Given the description of an element on the screen output the (x, y) to click on. 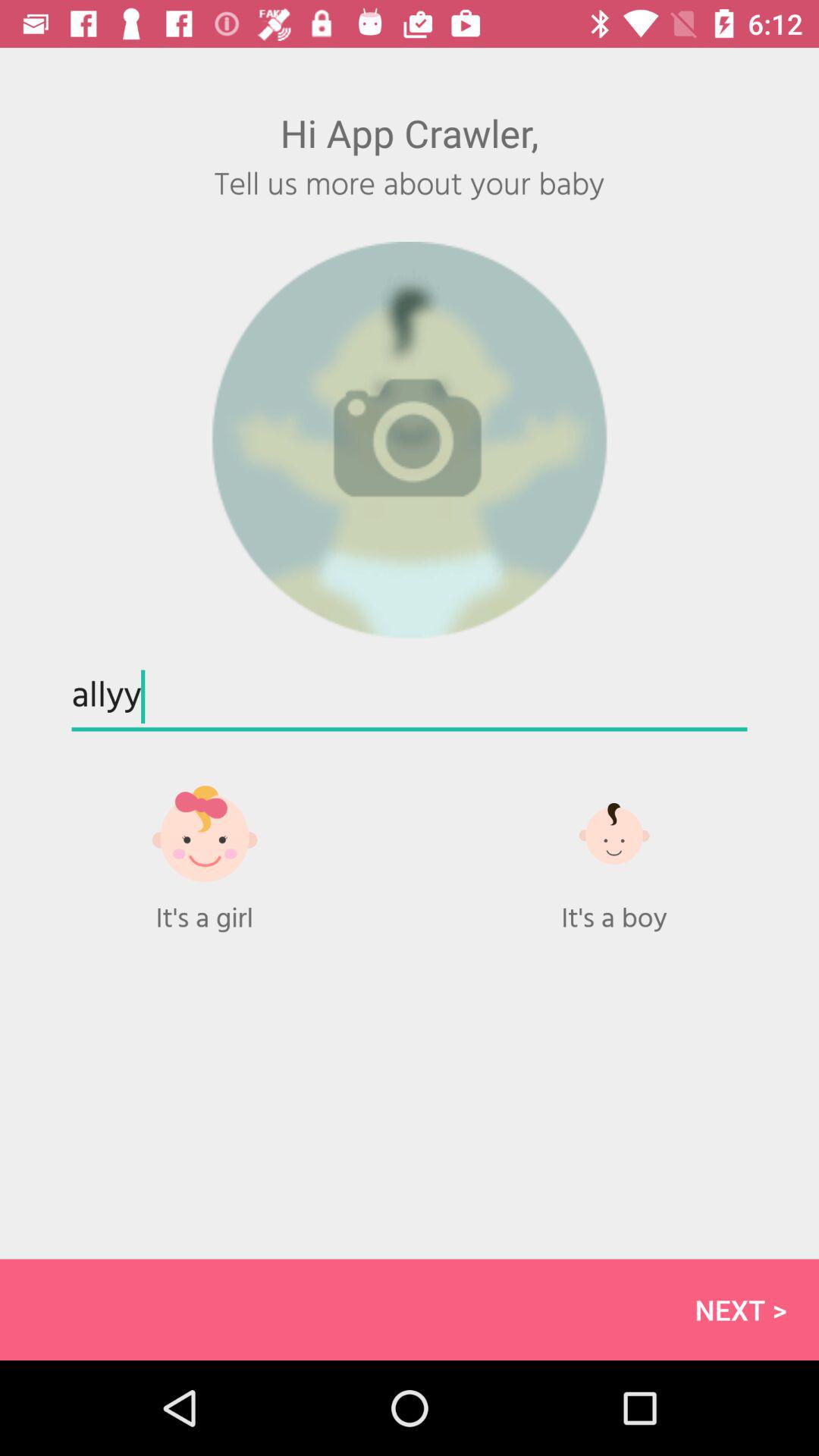
select camera option (409, 440)
